Given the description of an element on the screen output the (x, y) to click on. 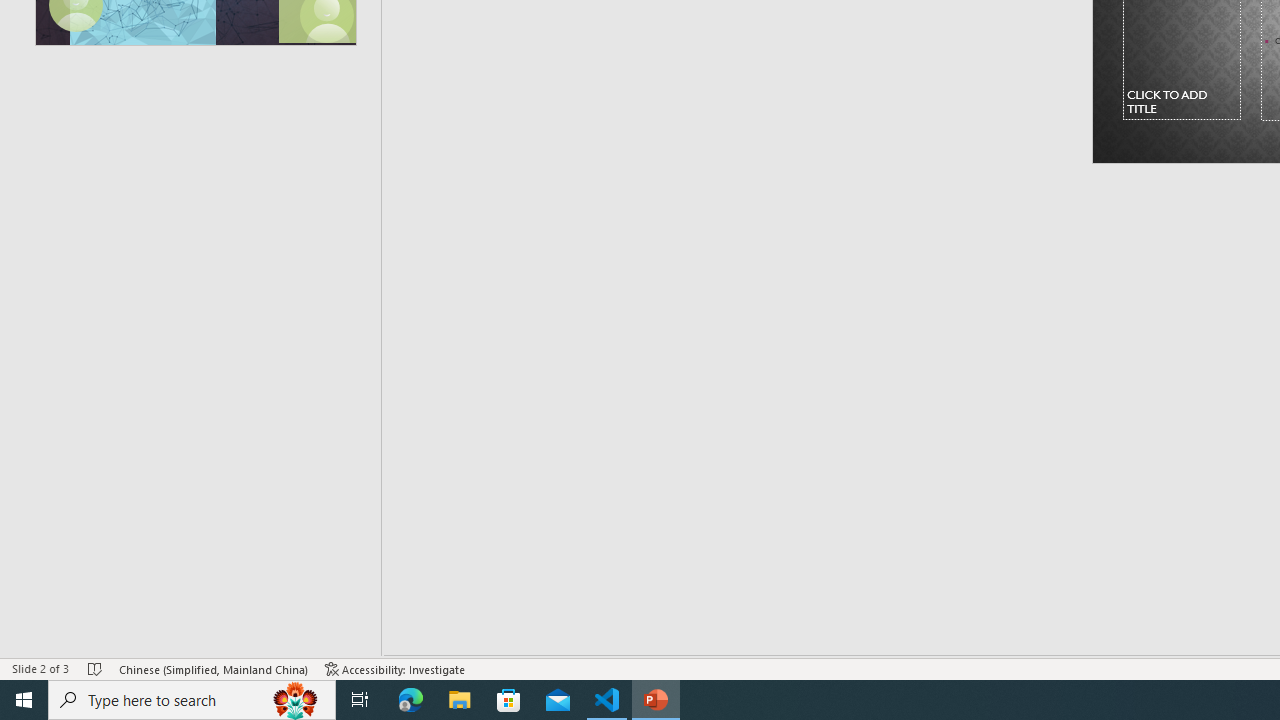
Spell Check No Errors (95, 668)
Accessibility Checker Accessibility: Investigate (395, 668)
